Given the description of an element on the screen output the (x, y) to click on. 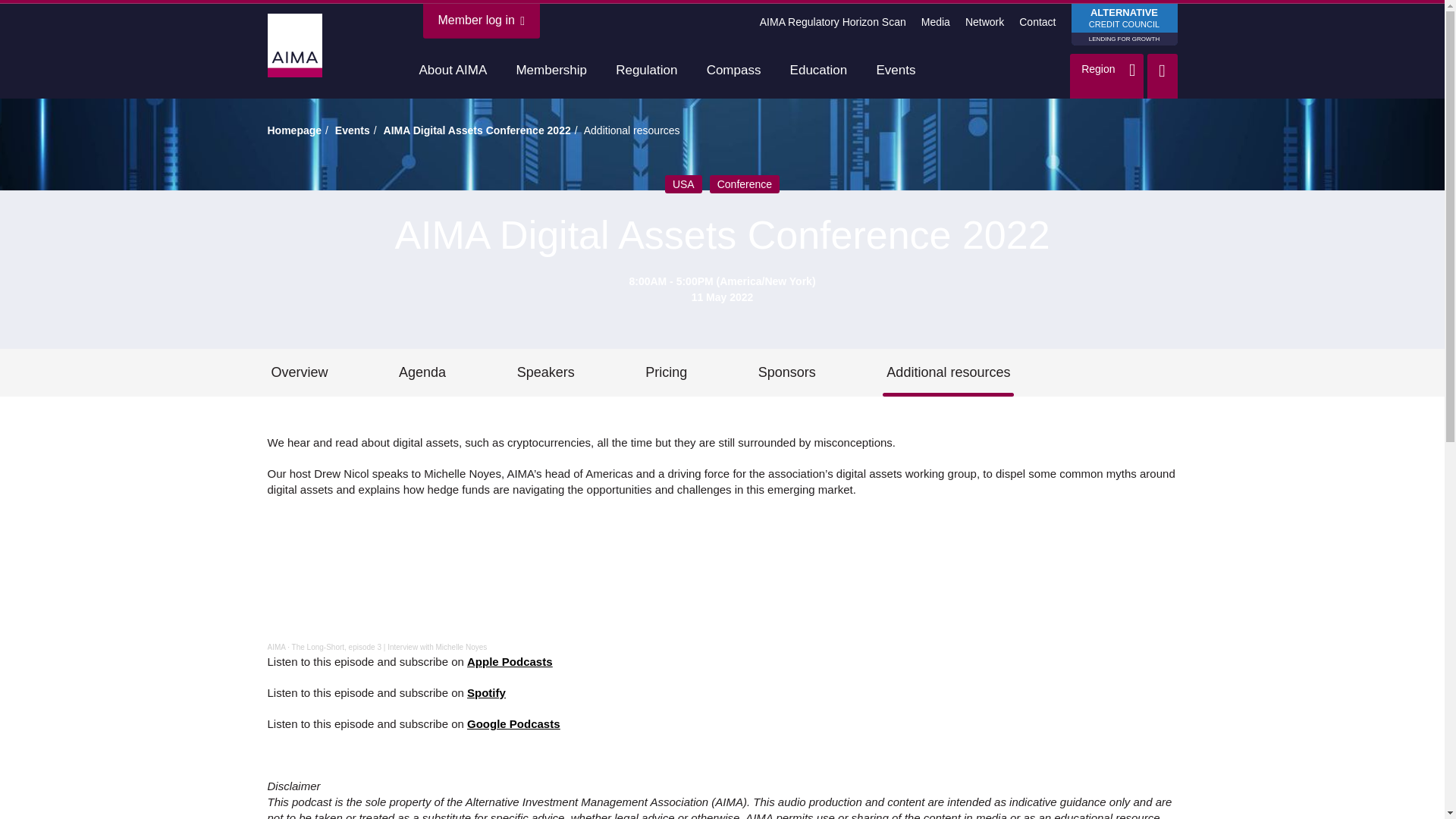
Member log in (1123, 24)
AIMA Regulatory Horizon Scan (481, 20)
AIMA Regulatory Horizon Scan (832, 21)
Contact (832, 21)
Media (1037, 21)
AIMA (935, 21)
About AIMA (275, 646)
Regulation (453, 71)
Membership (646, 71)
Network (550, 71)
